Given the description of an element on the screen output the (x, y) to click on. 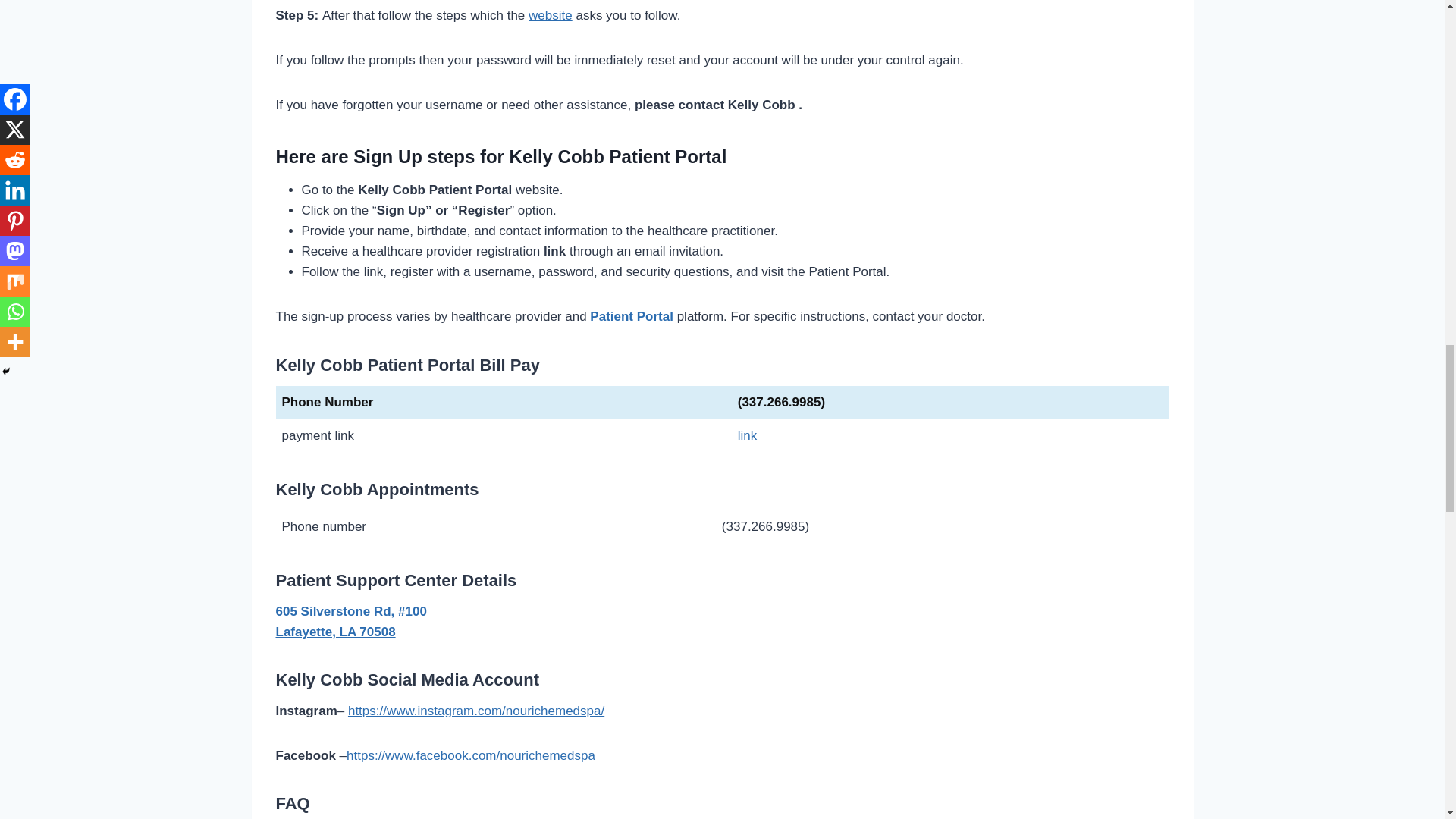
Patient Portal (630, 316)
link (747, 435)
website (550, 15)
